Given the description of an element on the screen output the (x, y) to click on. 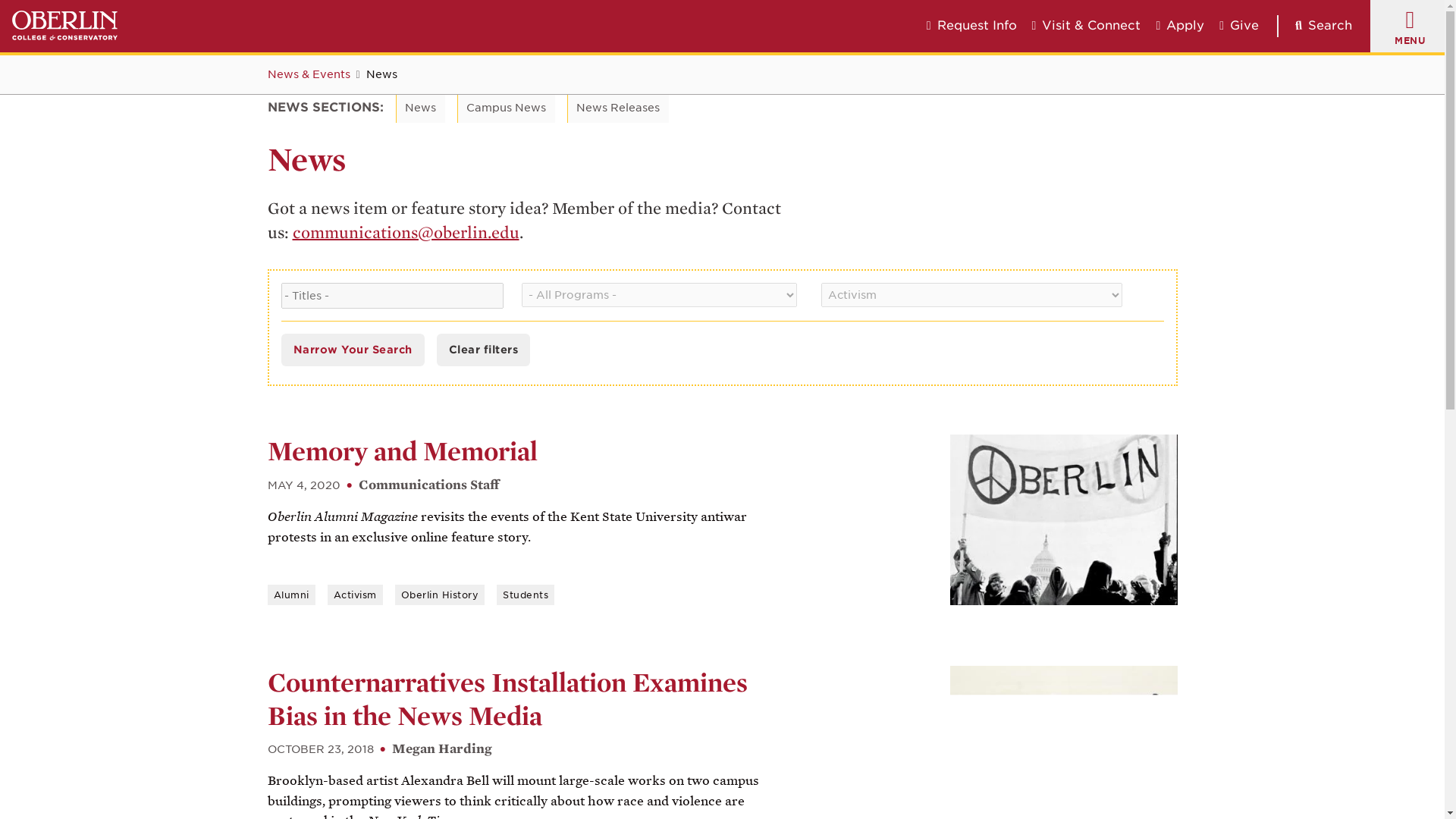
Counternarratives exhibition (1062, 742)
Request Info (971, 25)
Give (1239, 25)
Search (1314, 25)
Apply (1180, 25)
